Given the description of an element on the screen output the (x, y) to click on. 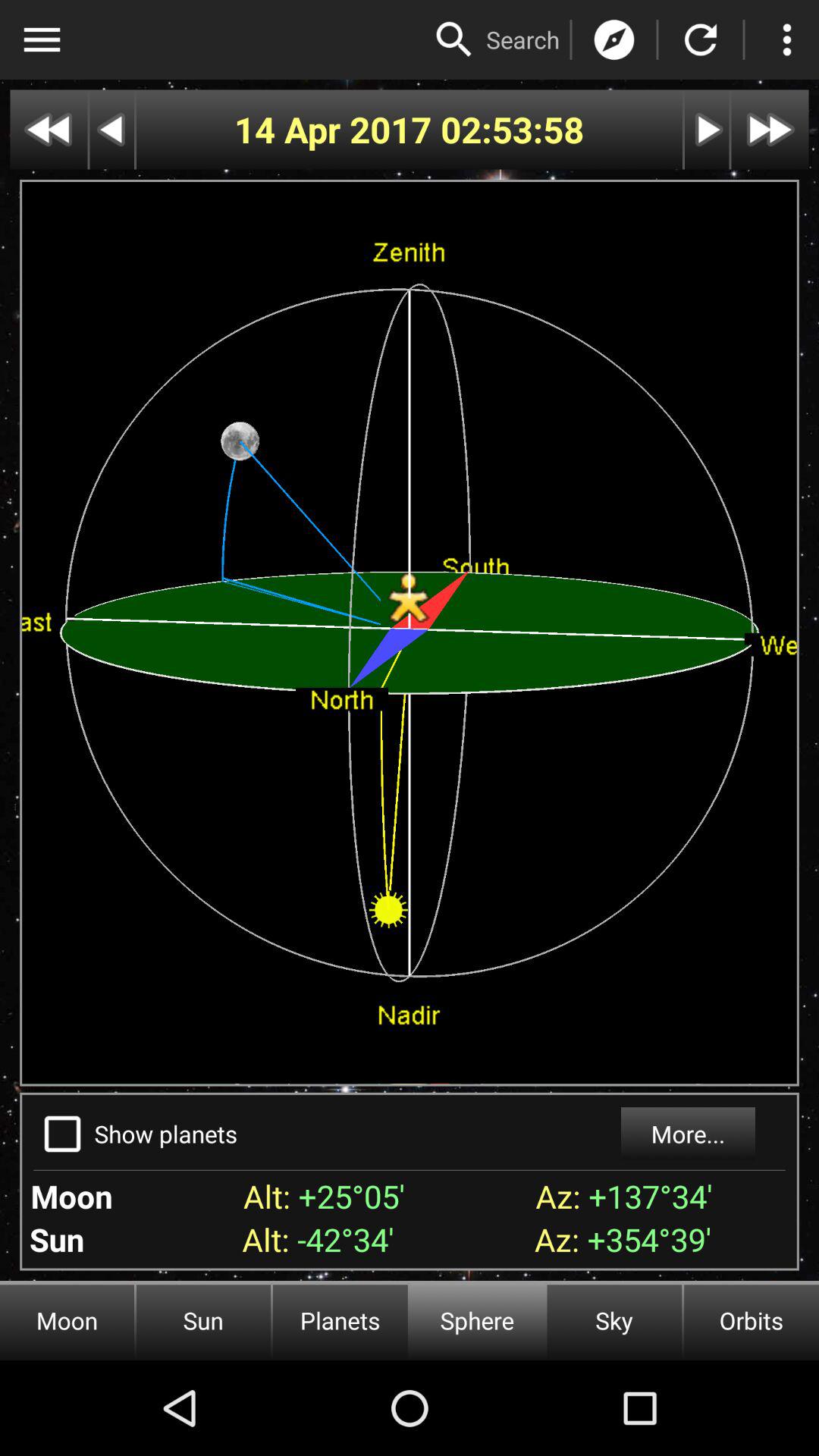
scroll until the search item (522, 39)
